Given the description of an element on the screen output the (x, y) to click on. 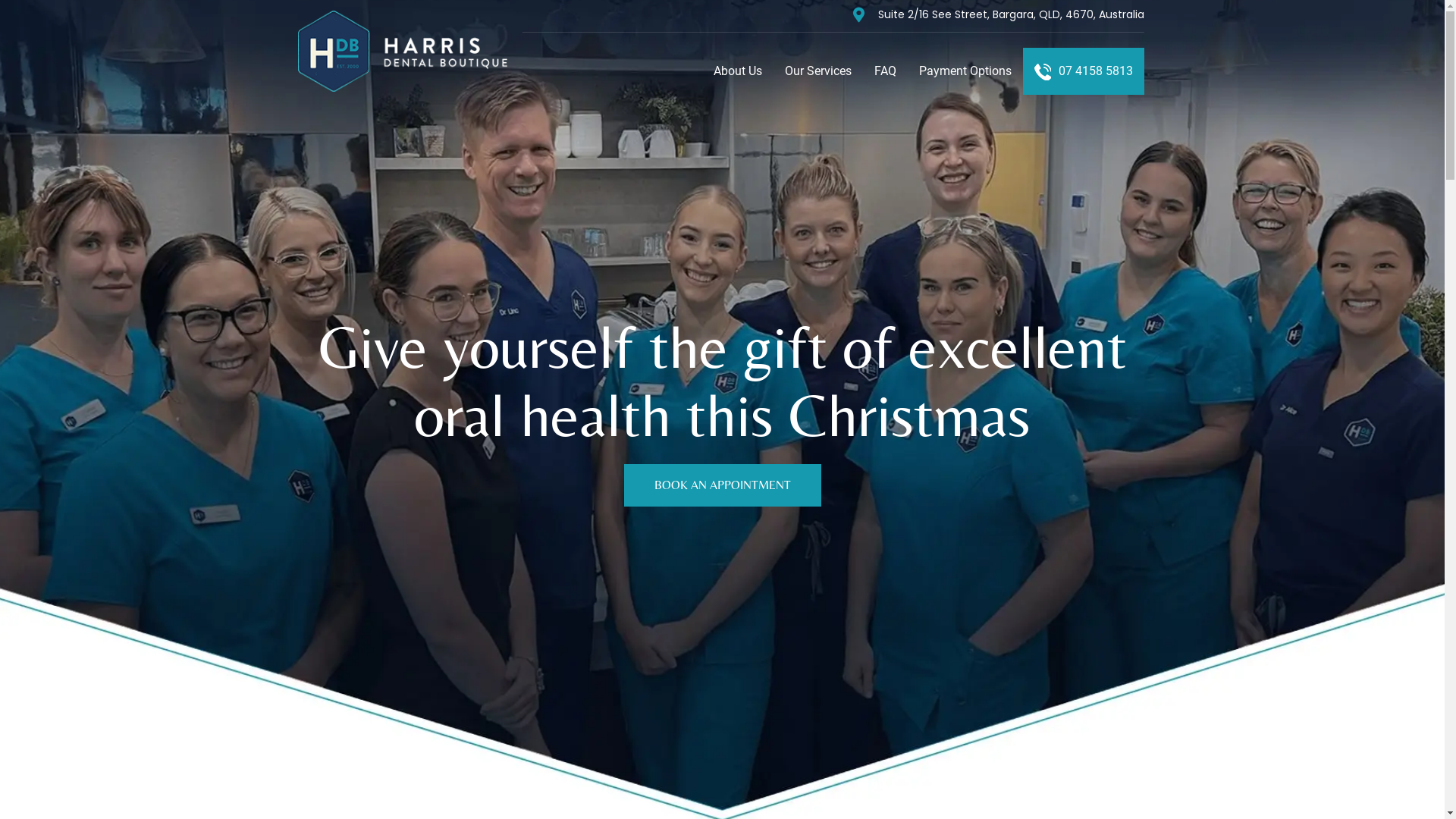
07 4158 5813 Element type: text (1083, 70)
About Us Element type: text (737, 70)
Our Services Element type: text (817, 70)
BOOK AN APPOINTMENT Element type: text (721, 485)
Payment Options Element type: text (964, 70)
Suite 2/16 See Street, Bargara, QLD, 4670, Australia Element type: text (1011, 13)
FAQ Element type: text (884, 70)
